Given the description of an element on the screen output the (x, y) to click on. 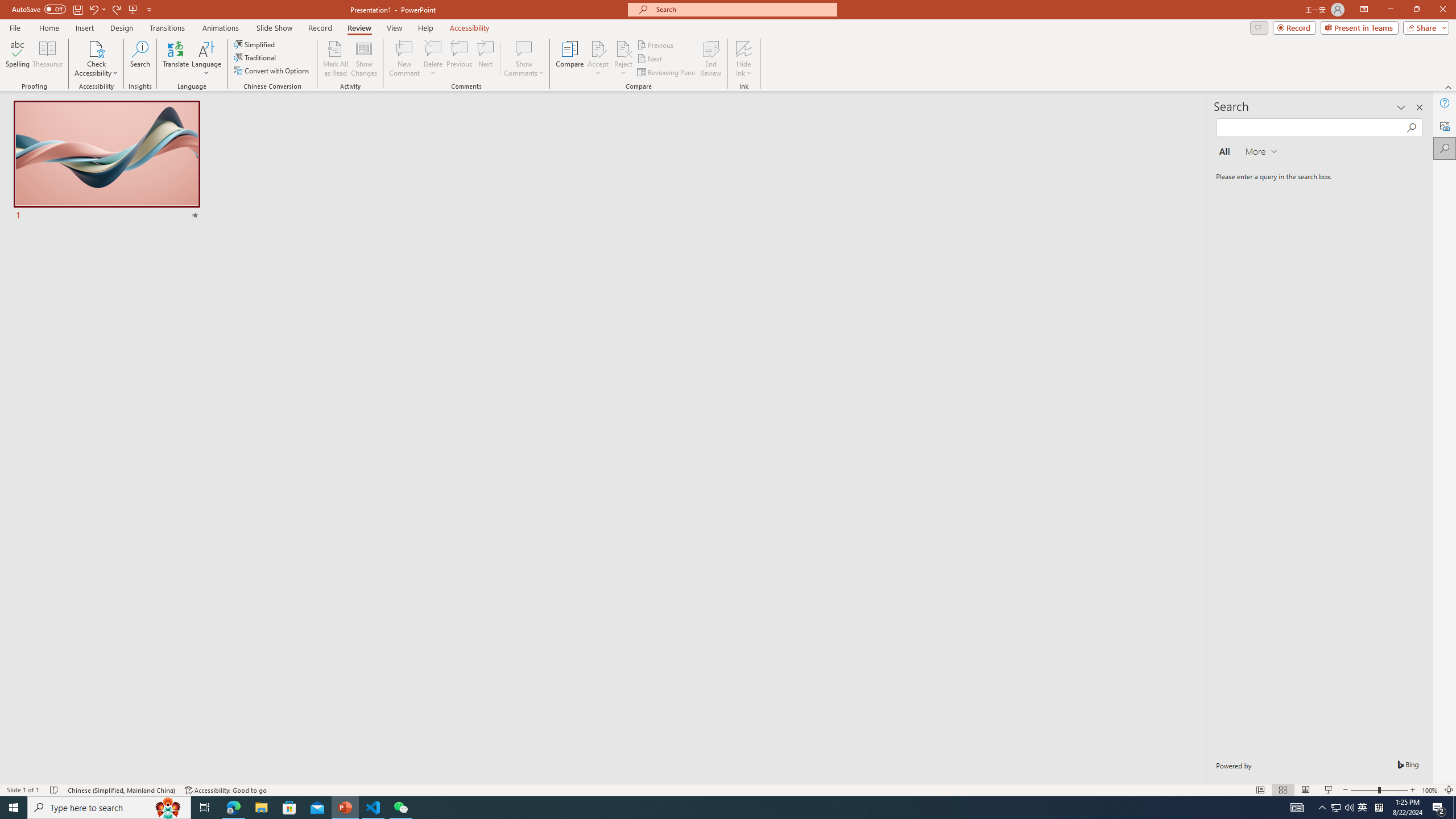
Delete (432, 58)
Traditional (255, 56)
Accept (598, 58)
Simplified (254, 44)
